Given the description of an element on the screen output the (x, y) to click on. 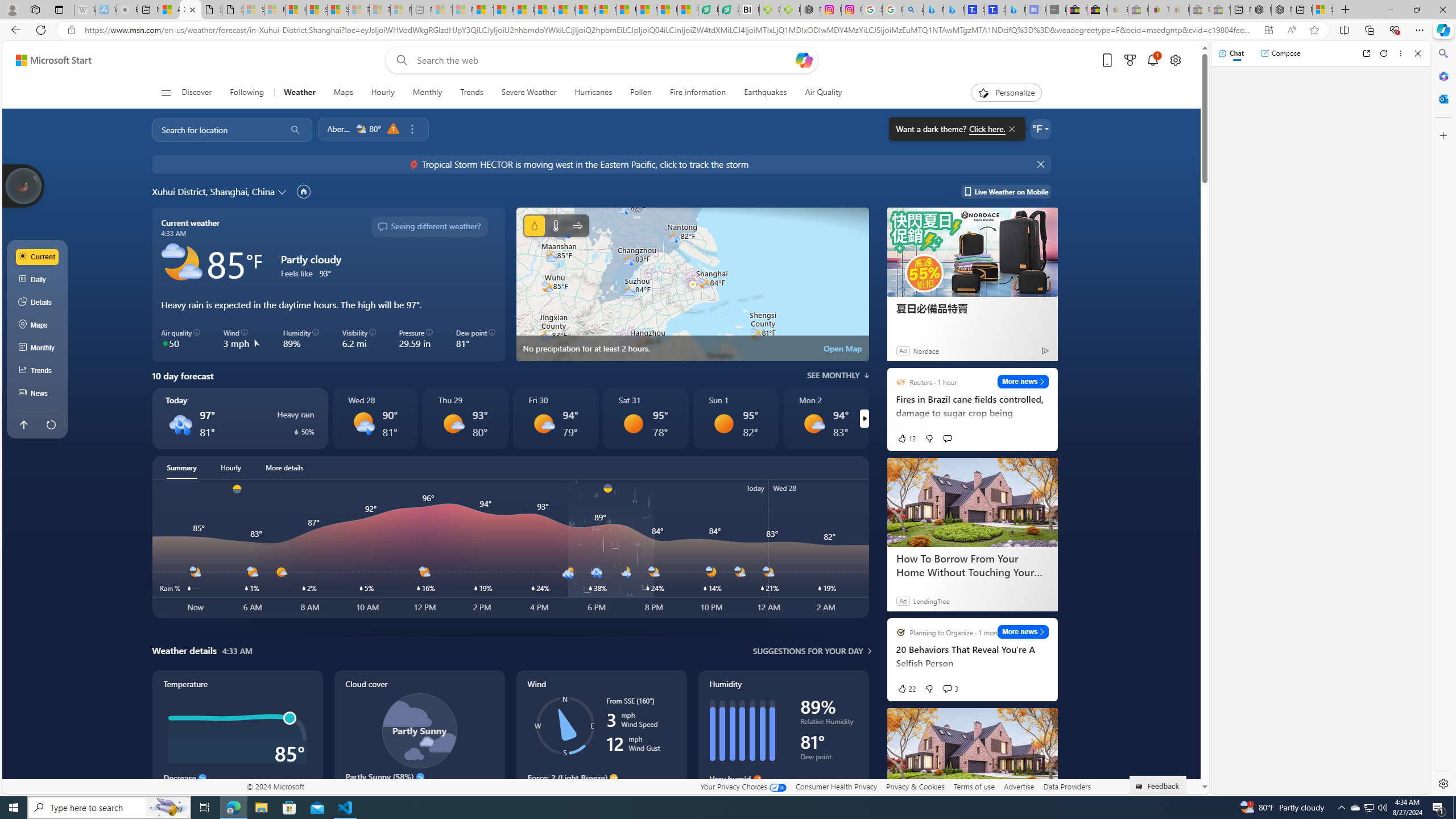
LendingTree (930, 601)
Trends (471, 92)
Weather settings (1040, 128)
Decreasing with mostly sunny sky at 8:00 AM. (419, 793)
Your Privacy Choices (743, 785)
Press Room - eBay Inc. - Sleeping (1199, 9)
Descarga Driver Updater (789, 9)
Back to top (23, 424)
Data Providers (1066, 785)
static map image of vector map (692, 284)
Class: aqiColorCycle-DS-EntryPoint1-1 (164, 343)
Feedback (1157, 784)
